Given the description of an element on the screen output the (x, y) to click on. 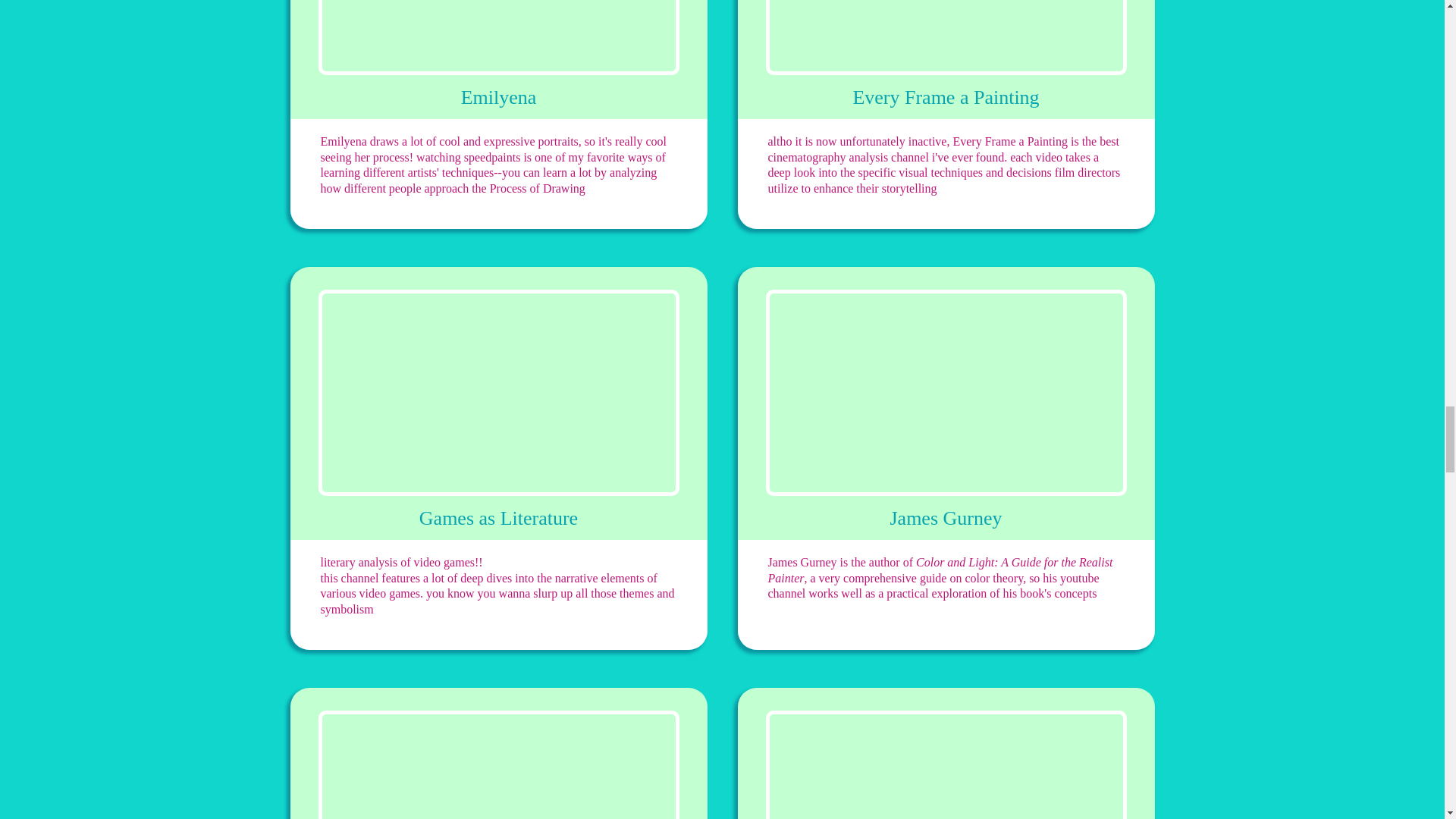
YouTube video player (498, 392)
YouTube video player (498, 764)
YouTube video player (498, 37)
